Given the description of an element on the screen output the (x, y) to click on. 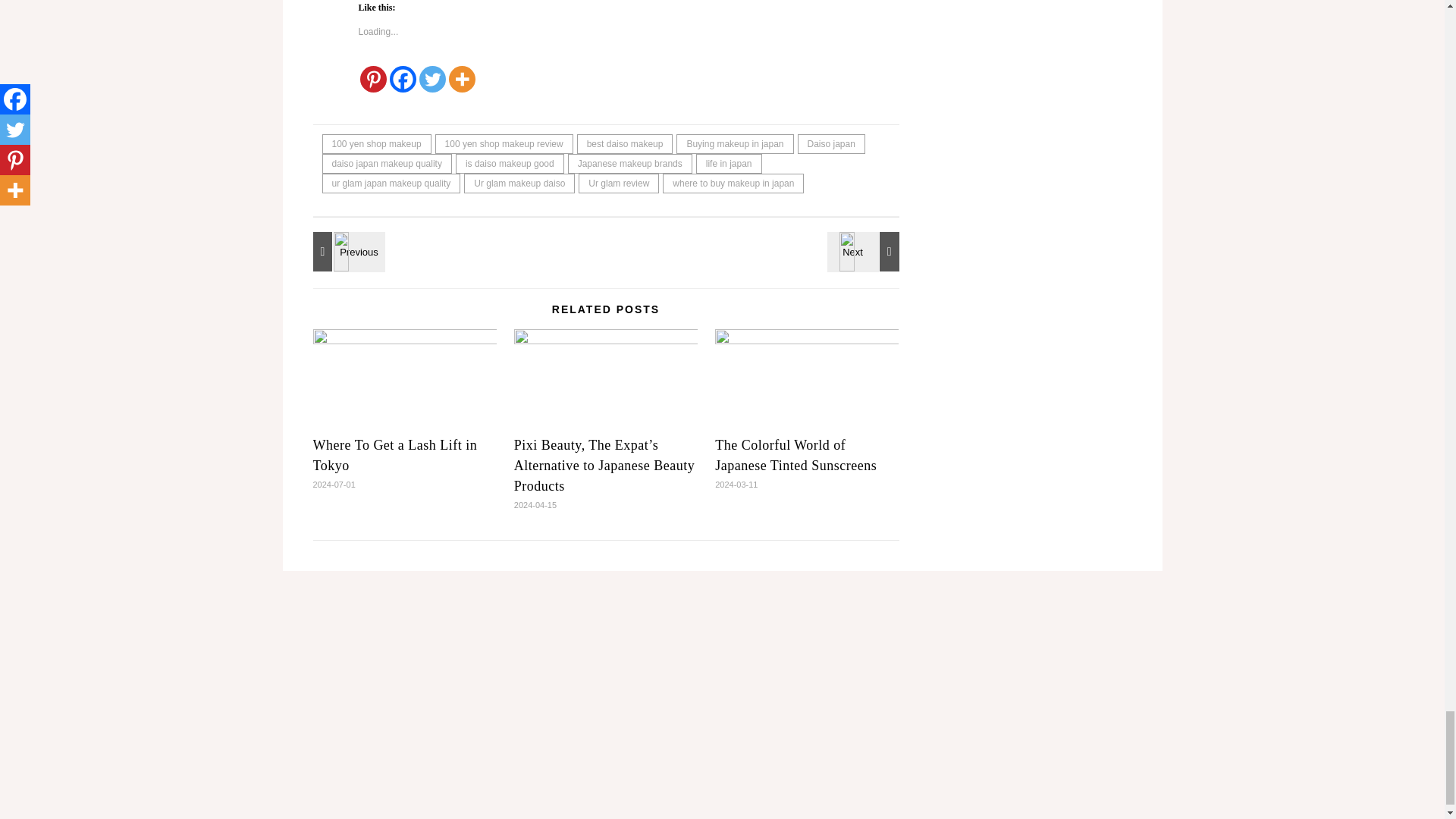
Pinterest (372, 79)
Facebook (403, 79)
Twitter (432, 79)
More (462, 79)
